Given the description of an element on the screen output the (x, y) to click on. 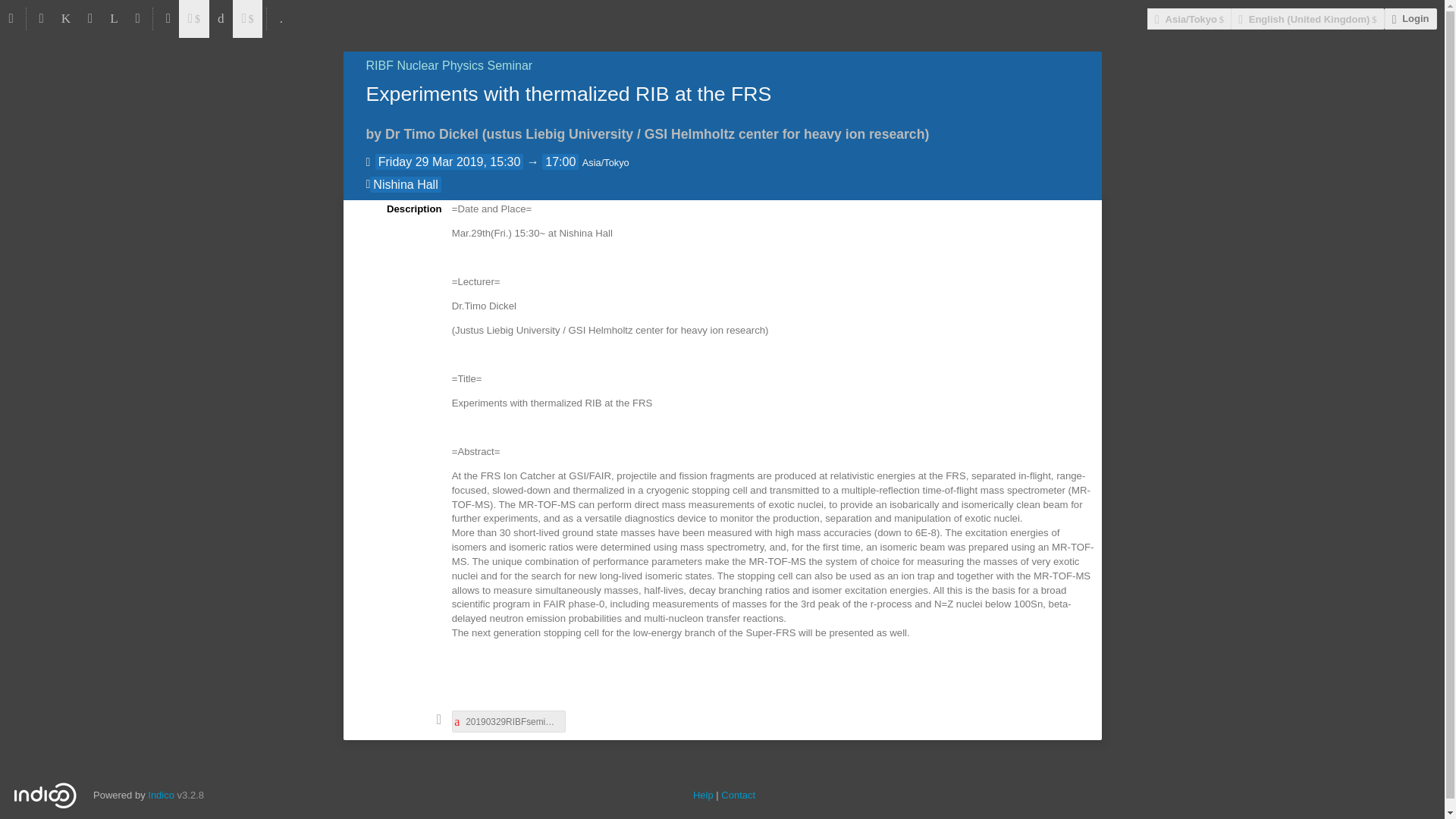
Login (1410, 19)
20190329RIBFsemiPoster-271.pdf (508, 721)
Indico (161, 794)
20190329RIBFsemiPoster-271.pdf (508, 721)
Contact (737, 794)
RIBF Nuclear Physics Seminar (448, 65)
Help (703, 794)
